Given the description of an element on the screen output the (x, y) to click on. 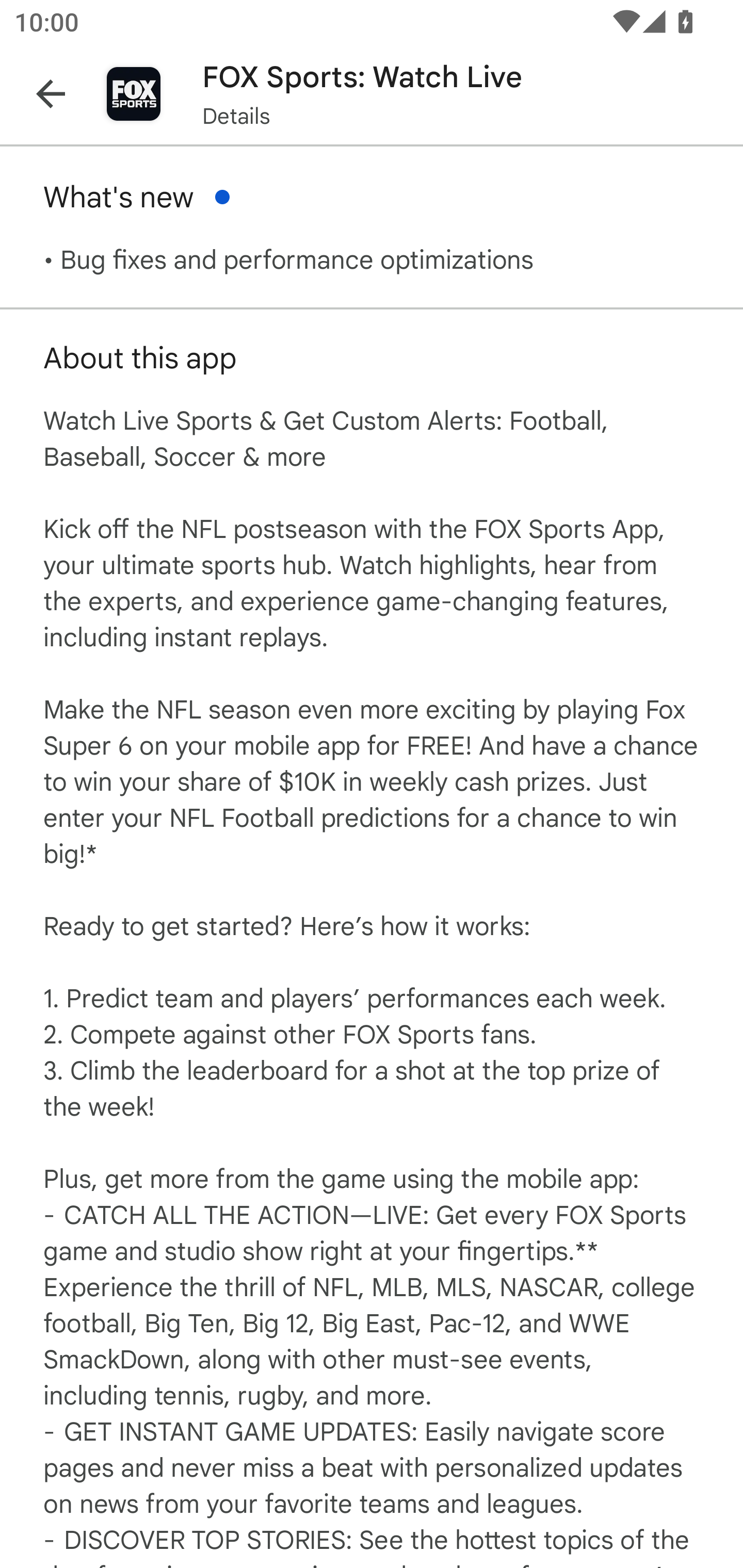
Navigate up (50, 93)
